Given the description of an element on the screen output the (x, y) to click on. 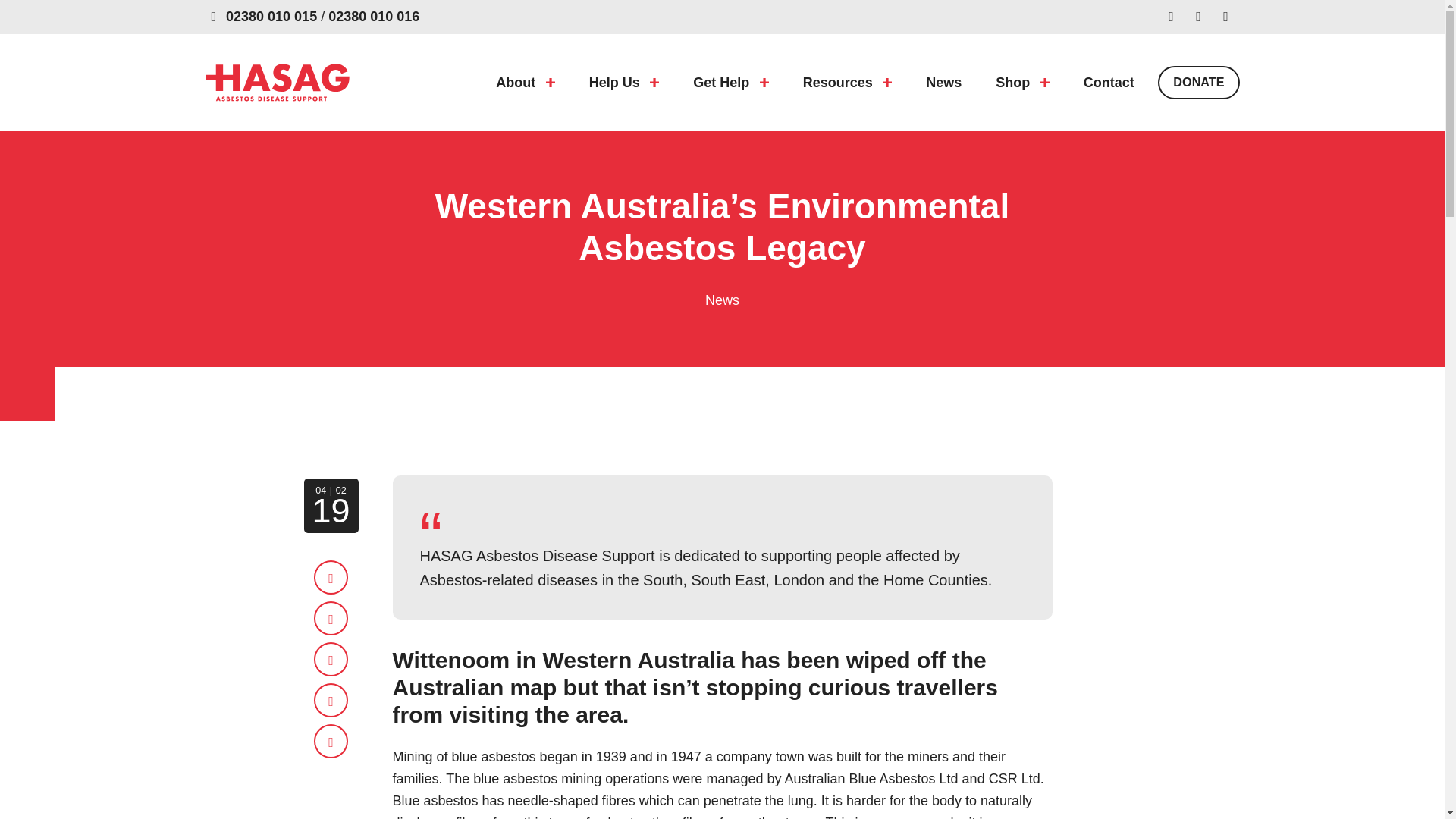
HASAG (277, 82)
Get Help (730, 82)
Shop (1022, 82)
About (525, 82)
Help Us (623, 82)
News (943, 82)
Resources (847, 82)
02380 010 015 (271, 16)
02380 010 016 (374, 16)
